Given the description of an element on the screen output the (x, y) to click on. 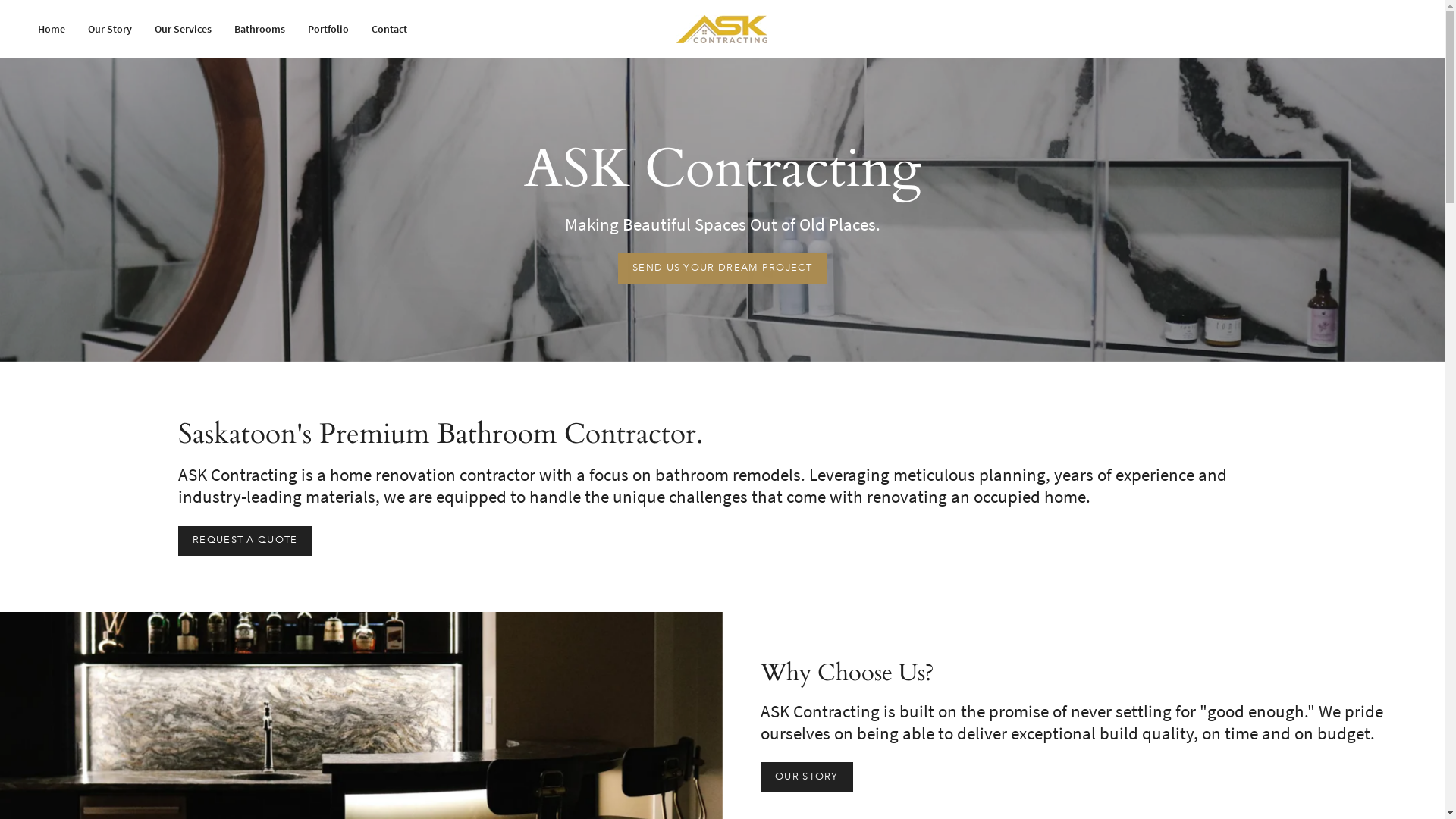
REQUEST A QUOTE Element type: text (244, 540)
SEND US YOUR DREAM PROJECT Element type: text (722, 268)
Home Element type: text (51, 29)
Our Services Element type: text (182, 29)
Contact Element type: text (389, 29)
Our Story Element type: text (109, 29)
Bathrooms Element type: text (259, 29)
Portfolio Element type: text (328, 29)
OUR STORY Element type: text (805, 777)
